Given the description of an element on the screen output the (x, y) to click on. 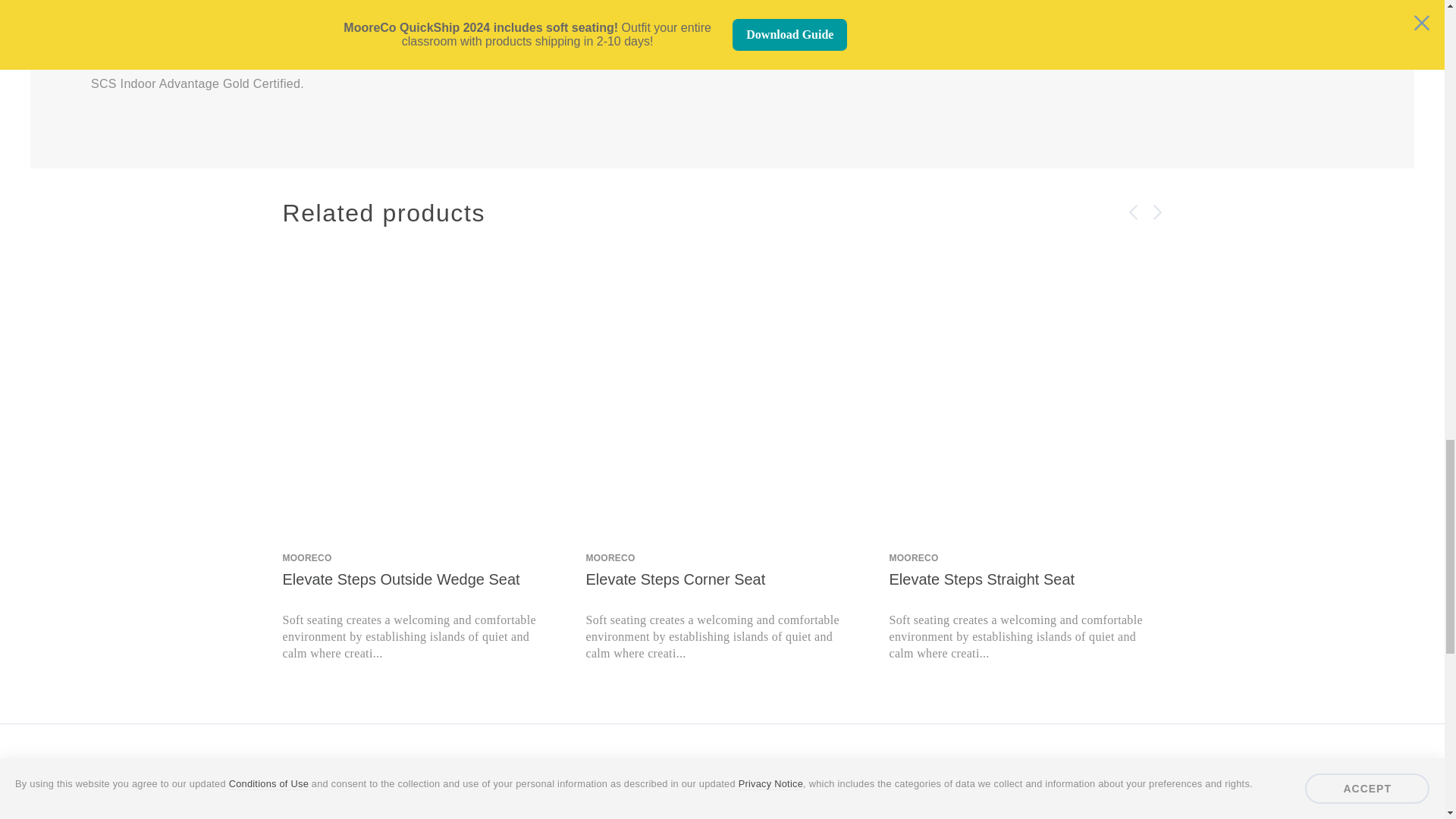
Elevate Steps Outside Wedge Seat (418, 393)
Elevate Steps Outside Wedge Seat (418, 607)
Elevate Steps Straight Seat (1024, 393)
Elevate Steps Straight Seat (1024, 607)
Elevate Steps Corner Seat (722, 393)
Elevate Steps Corner Seat (722, 607)
